Given the description of an element on the screen output the (x, y) to click on. 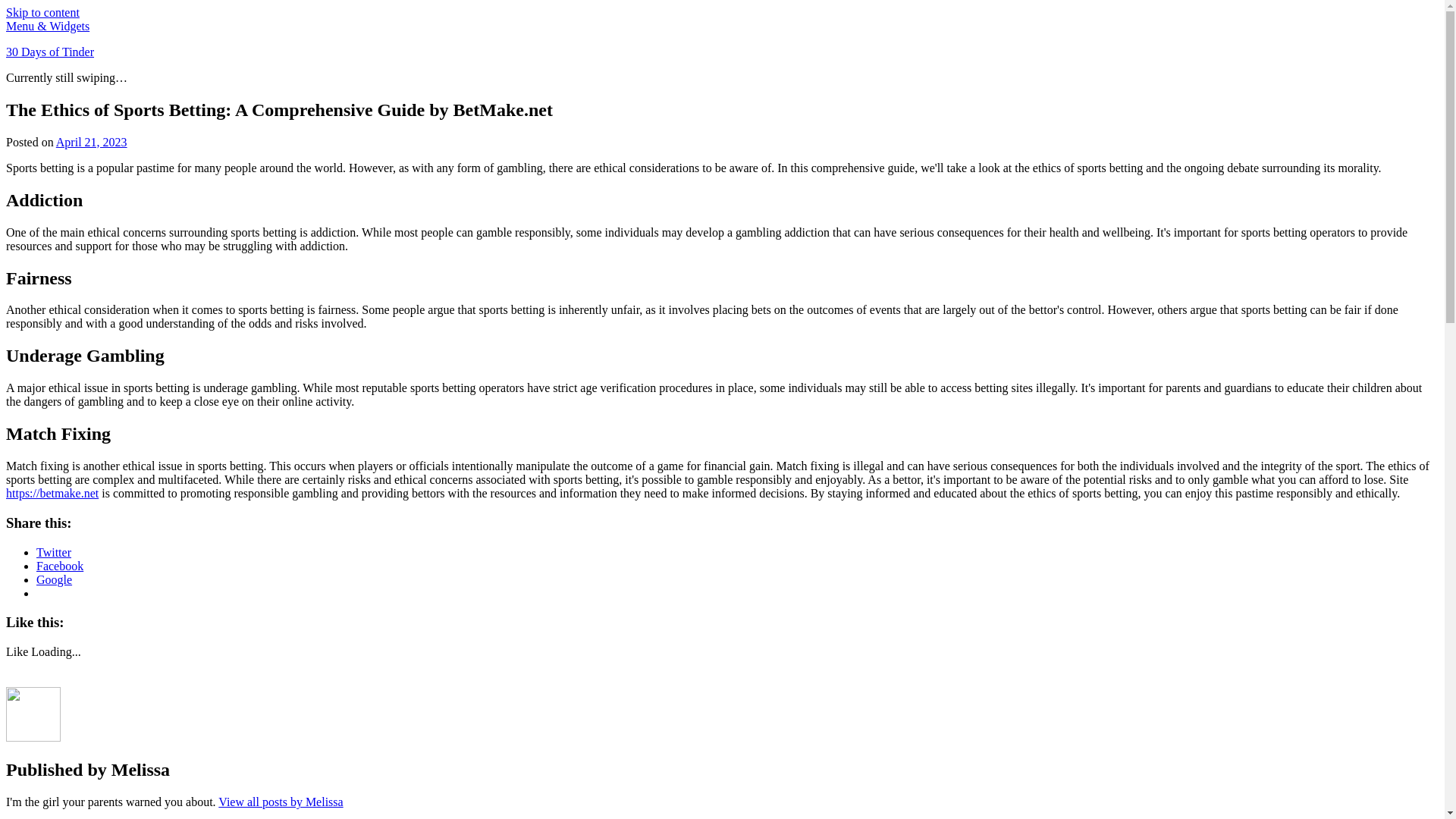
Skip to content Element type: text (42, 12)
April 21, 2023 Element type: text (91, 141)
Google Element type: text (54, 579)
30 Days of Tinder Element type: text (50, 51)
View all posts by Melissa Element type: text (280, 801)
Facebook Element type: text (59, 565)
Menu & Widgets Element type: text (47, 25)
Twitter Element type: text (53, 552)
https://betmake.net Element type: text (52, 492)
